Given the description of an element on the screen output the (x, y) to click on. 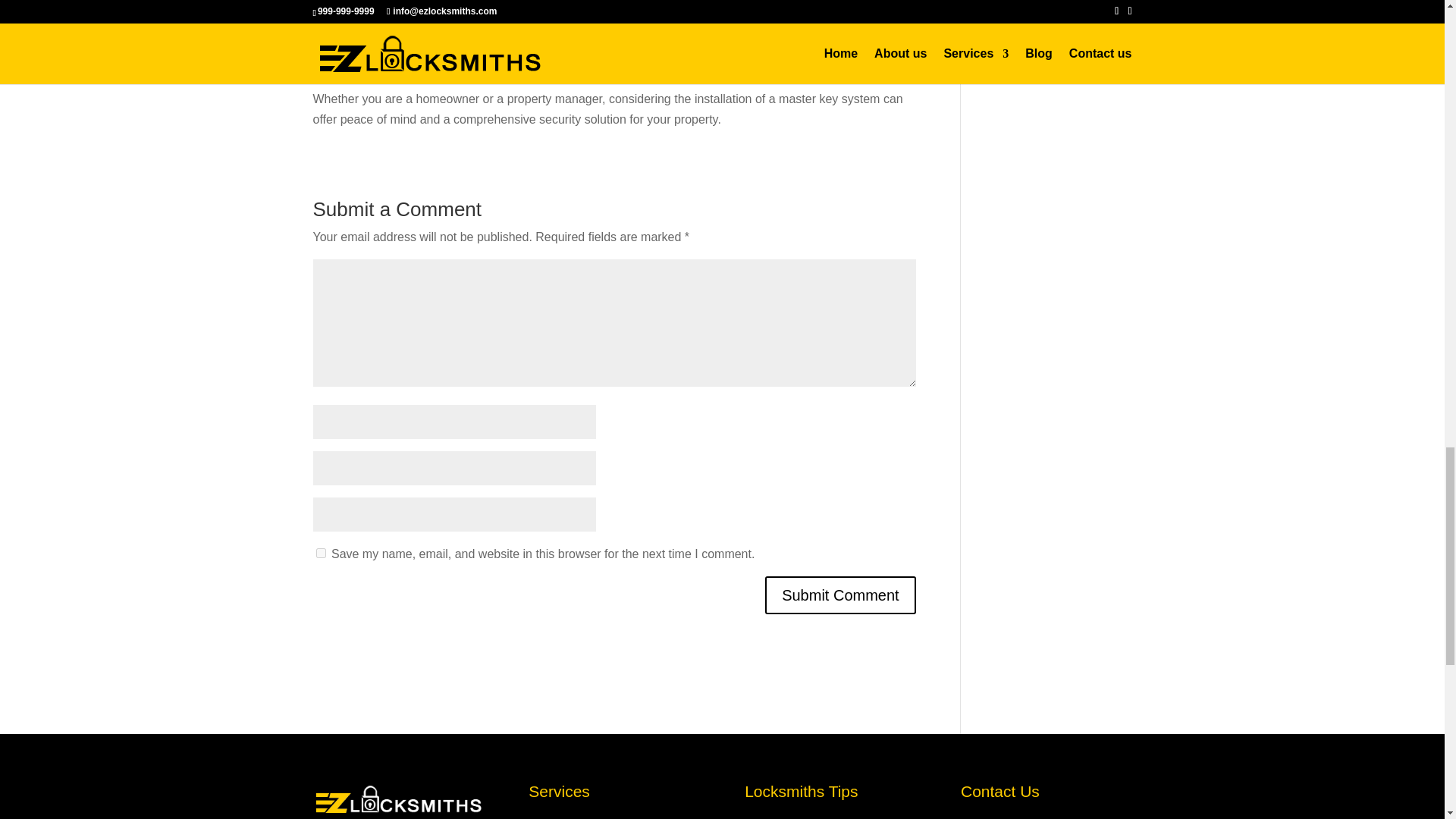
Submit Comment (840, 595)
yes (319, 552)
